Given the description of an element on the screen output the (x, y) to click on. 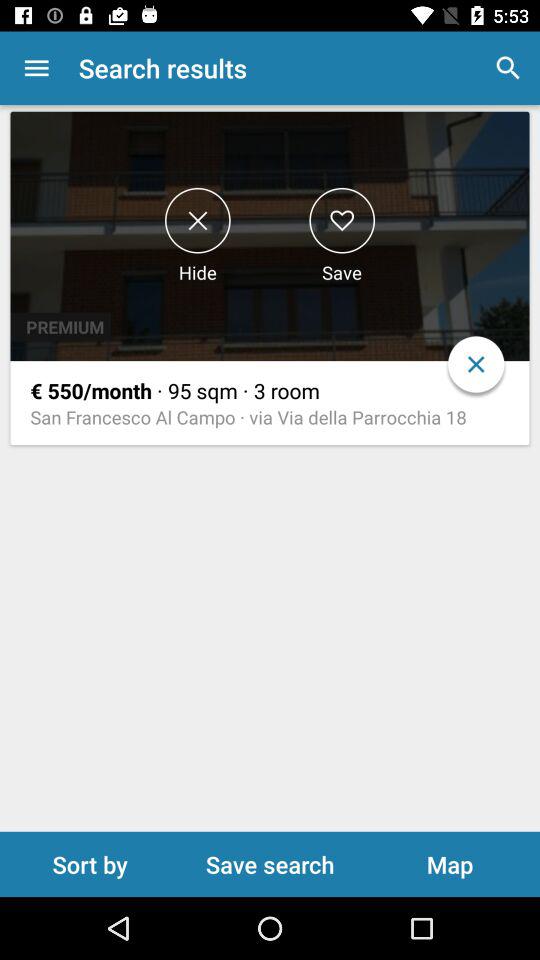
choose icon next to the save search icon (450, 863)
